Given the description of an element on the screen output the (x, y) to click on. 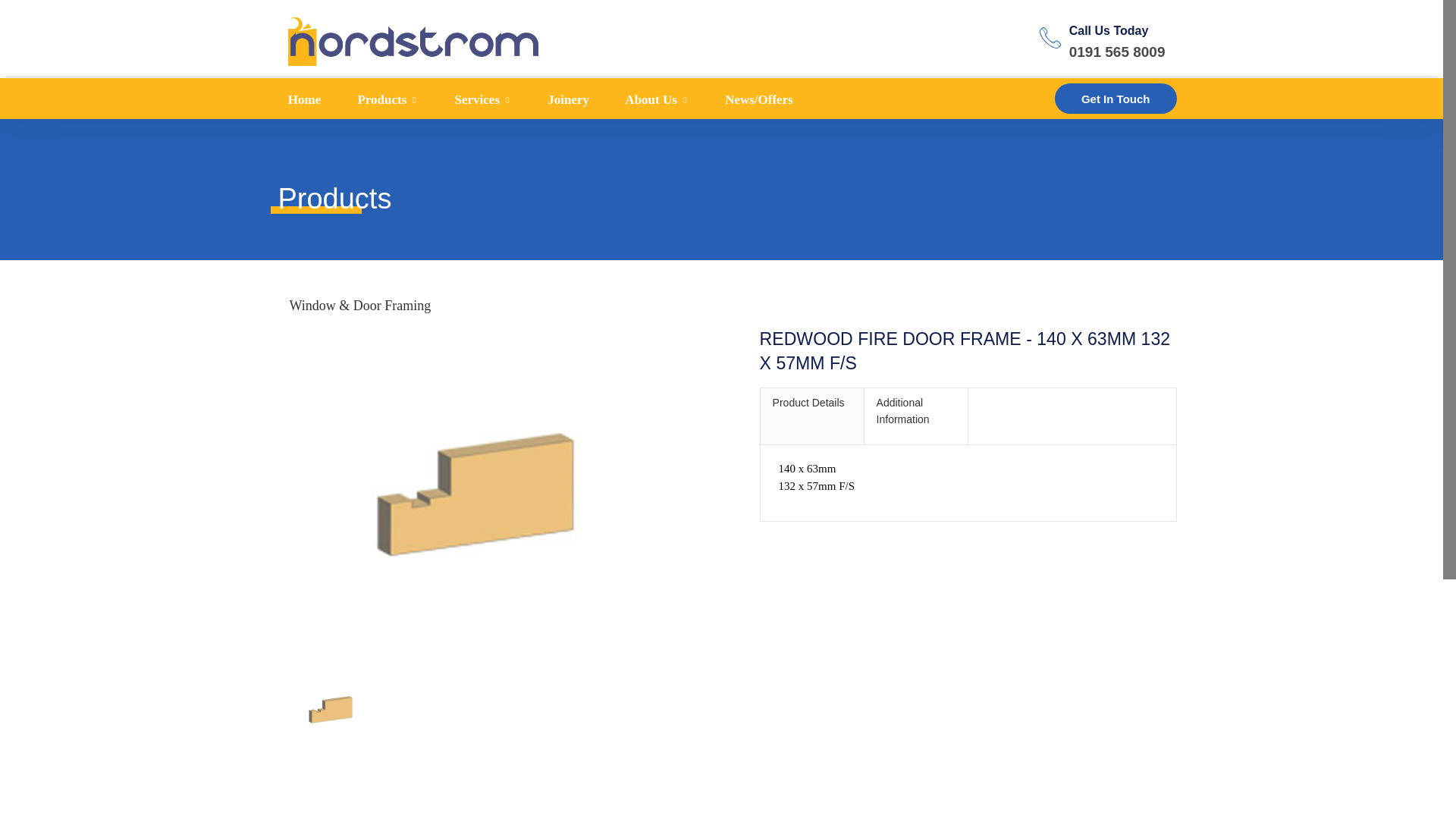
Services (478, 100)
Get In Touch (1115, 98)
Nordstrom Timber (413, 38)
About Us (653, 100)
Joinery (564, 100)
Products (384, 100)
Home (307, 100)
